Given the description of an element on the screen output the (x, y) to click on. 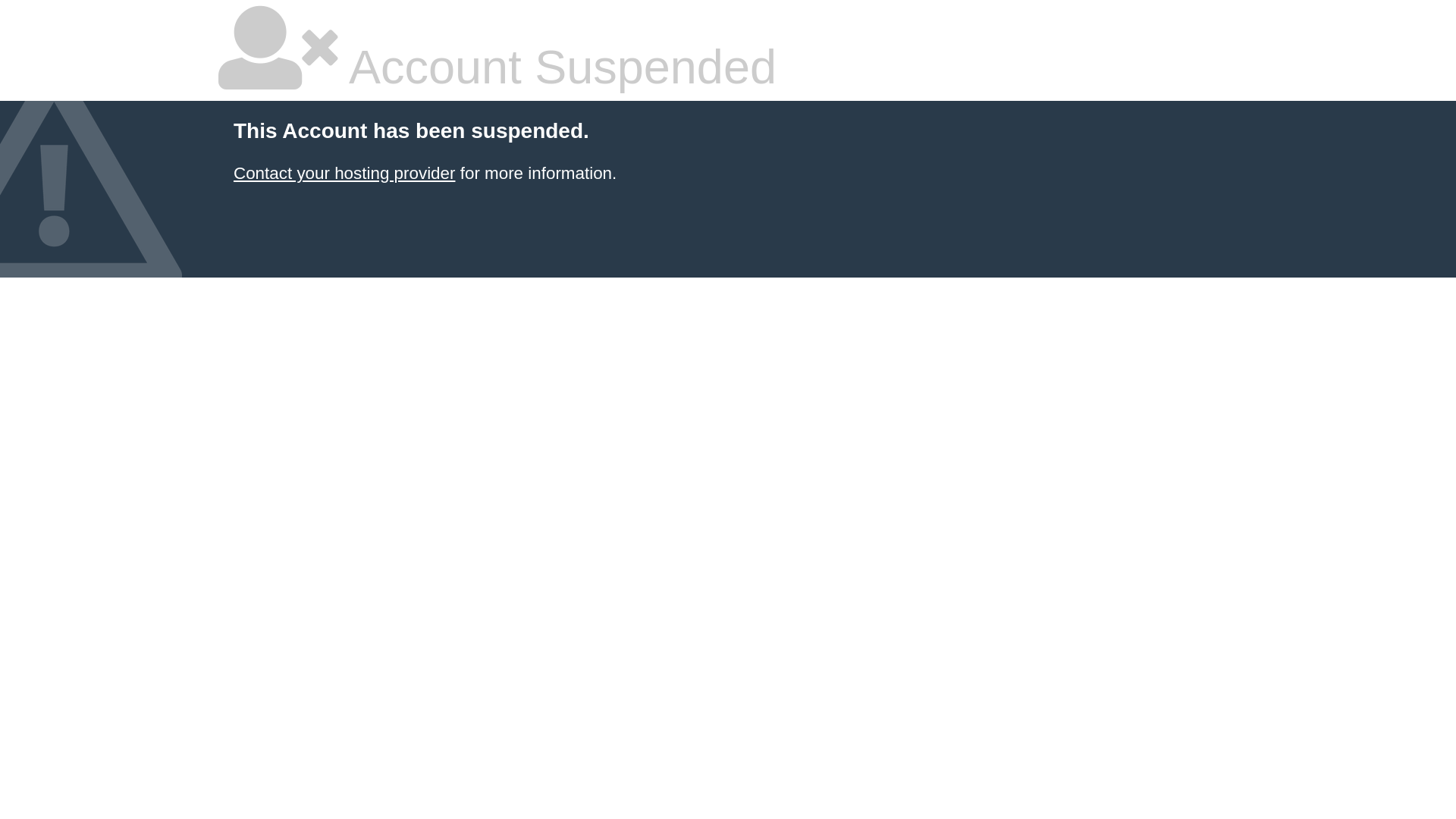
Contact your hosting provider Element type: text (344, 172)
